Given the description of an element on the screen output the (x, y) to click on. 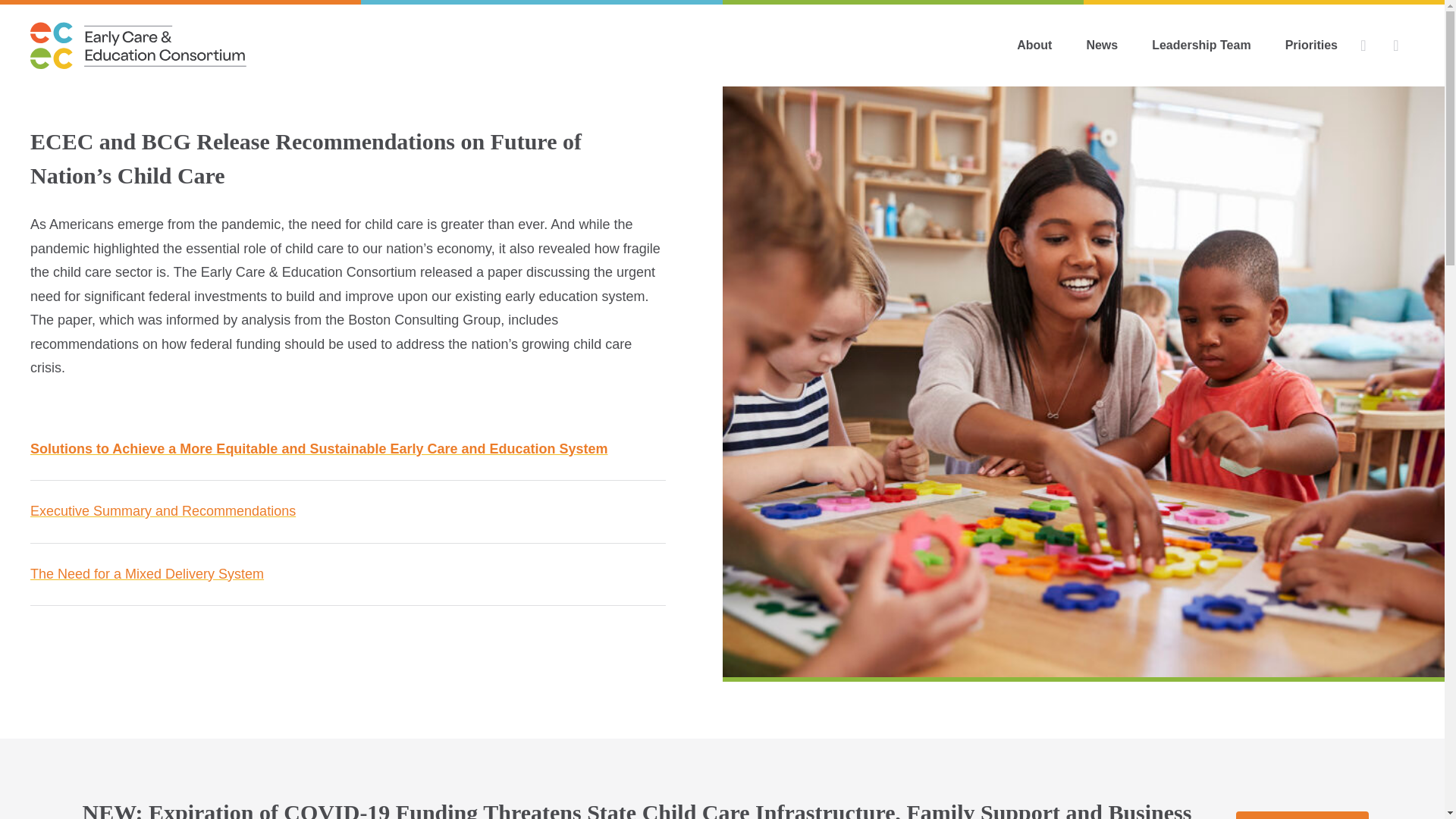
Priorities (1310, 45)
Learn More (1302, 815)
ECEC (138, 44)
Leadership Team (1201, 45)
About (1034, 45)
Executive Summary and Recommendations (162, 510)
The Need for a Mixed Delivery System (146, 572)
News (1101, 45)
